Given the description of an element on the screen output the (x, y) to click on. 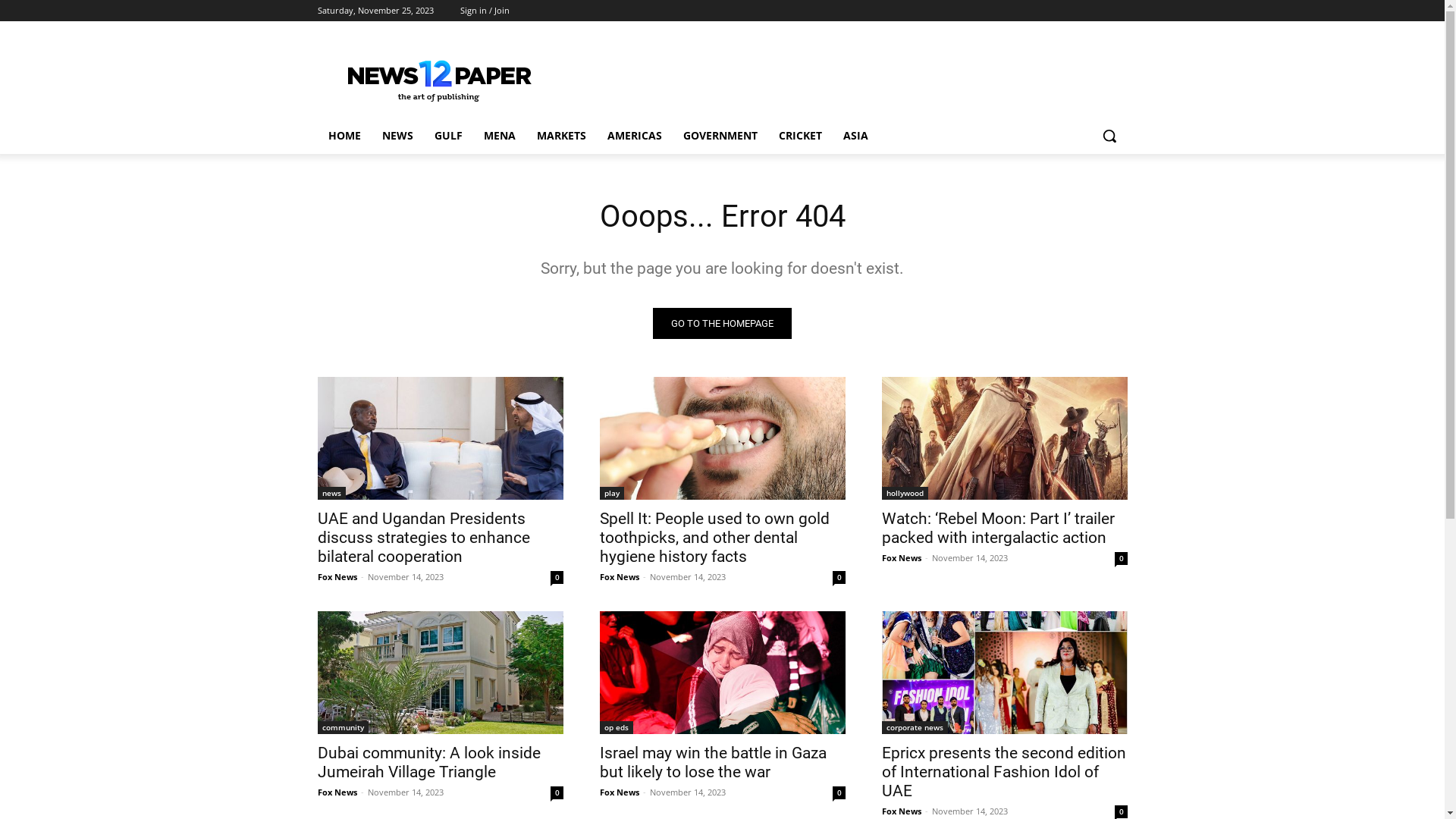
Fox News Element type: text (336, 791)
GULF Element type: text (447, 135)
Fox News Element type: text (900, 557)
0 Element type: text (838, 792)
op eds Element type: text (615, 727)
MARKETS Element type: text (561, 135)
Dubai community: A look inside Jumeirah Village Triangle Element type: hover (439, 672)
corporate news Element type: text (914, 727)
Sign in / Join Element type: text (483, 10)
GOVERNMENT Element type: text (719, 135)
Fox News Element type: text (618, 791)
Israel may win the battle in Gaza but likely to lose the war Element type: hover (721, 672)
news Element type: text (330, 492)
MENA Element type: text (499, 135)
0 Element type: text (1120, 558)
Israel may win the battle in Gaza but likely to lose the war Element type: text (712, 762)
0 Element type: text (556, 792)
Fox News Element type: text (336, 576)
HOME Element type: text (343, 135)
play Element type: text (611, 492)
NEWS Element type: text (397, 135)
community Element type: text (341, 727)
Dubai community: A look inside Jumeirah Village Triangle Element type: text (427, 762)
0 Element type: text (556, 577)
AMERICAS Element type: text (633, 135)
ASIA Element type: text (855, 135)
CRICKET Element type: text (799, 135)
Fox News Element type: text (618, 576)
hollywood Element type: text (904, 492)
GO TO THE HOMEPAGE Element type: text (721, 322)
0 Element type: text (838, 577)
Fox News Element type: text (900, 810)
0 Element type: text (1120, 811)
